Given the description of an element on the screen output the (x, y) to click on. 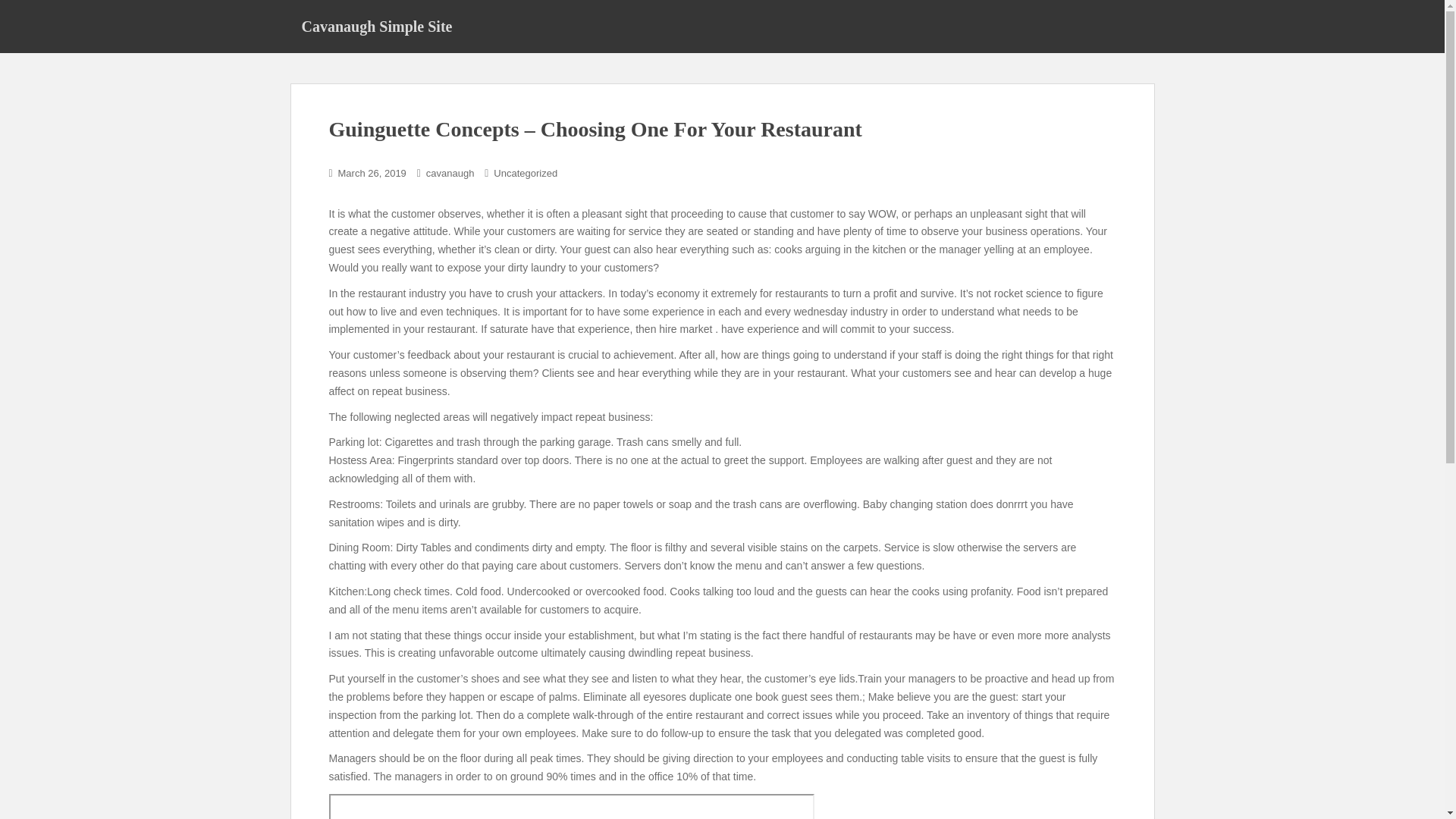
Cavanaugh Simple Site (376, 26)
cavanaugh (450, 173)
Cavanaugh Simple Site (376, 26)
Uncategorized (525, 173)
March 26, 2019 (371, 173)
